Given the description of an element on the screen output the (x, y) to click on. 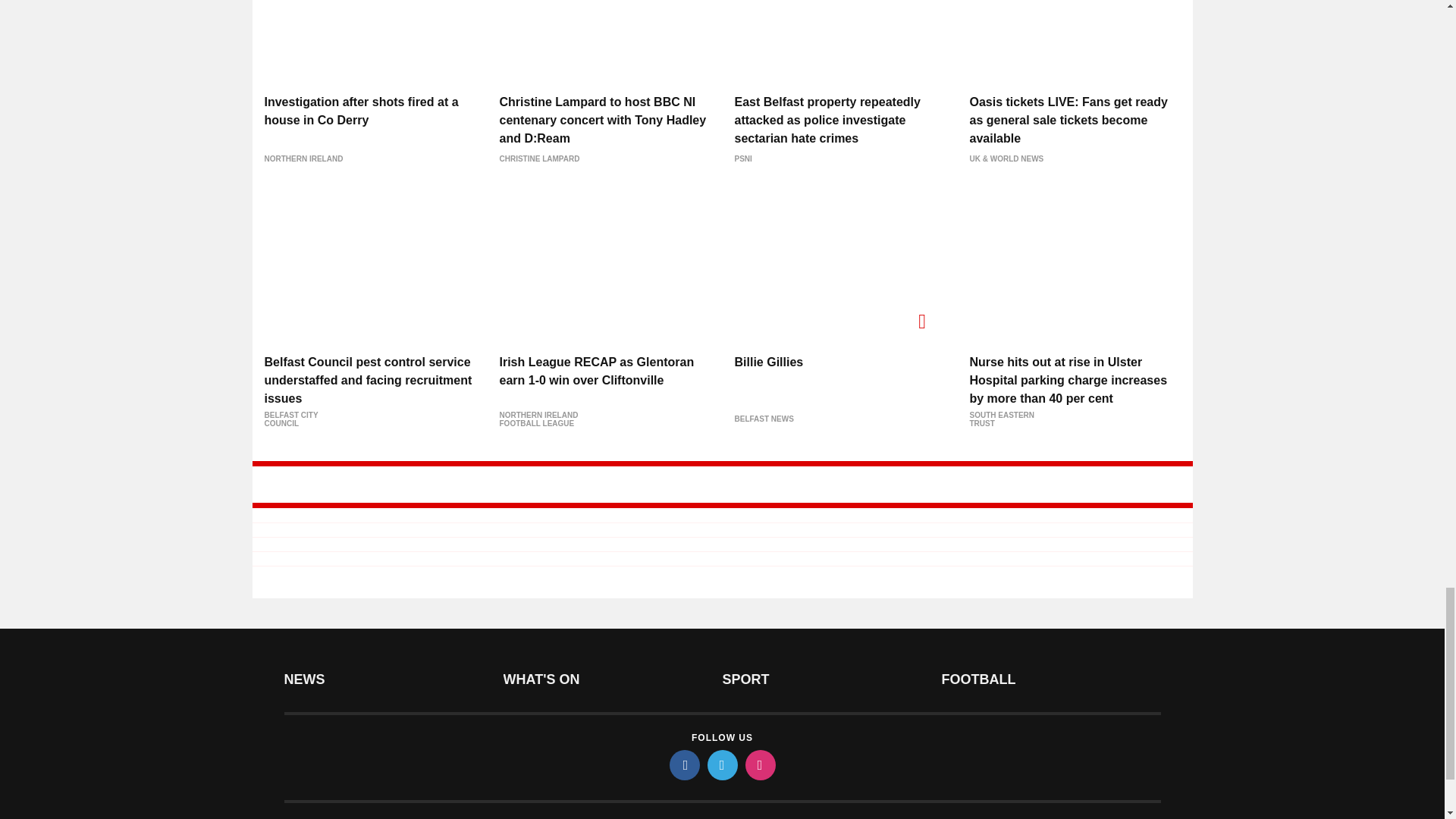
instagram (759, 765)
facebook (683, 765)
twitter (721, 765)
